Given the description of an element on the screen output the (x, y) to click on. 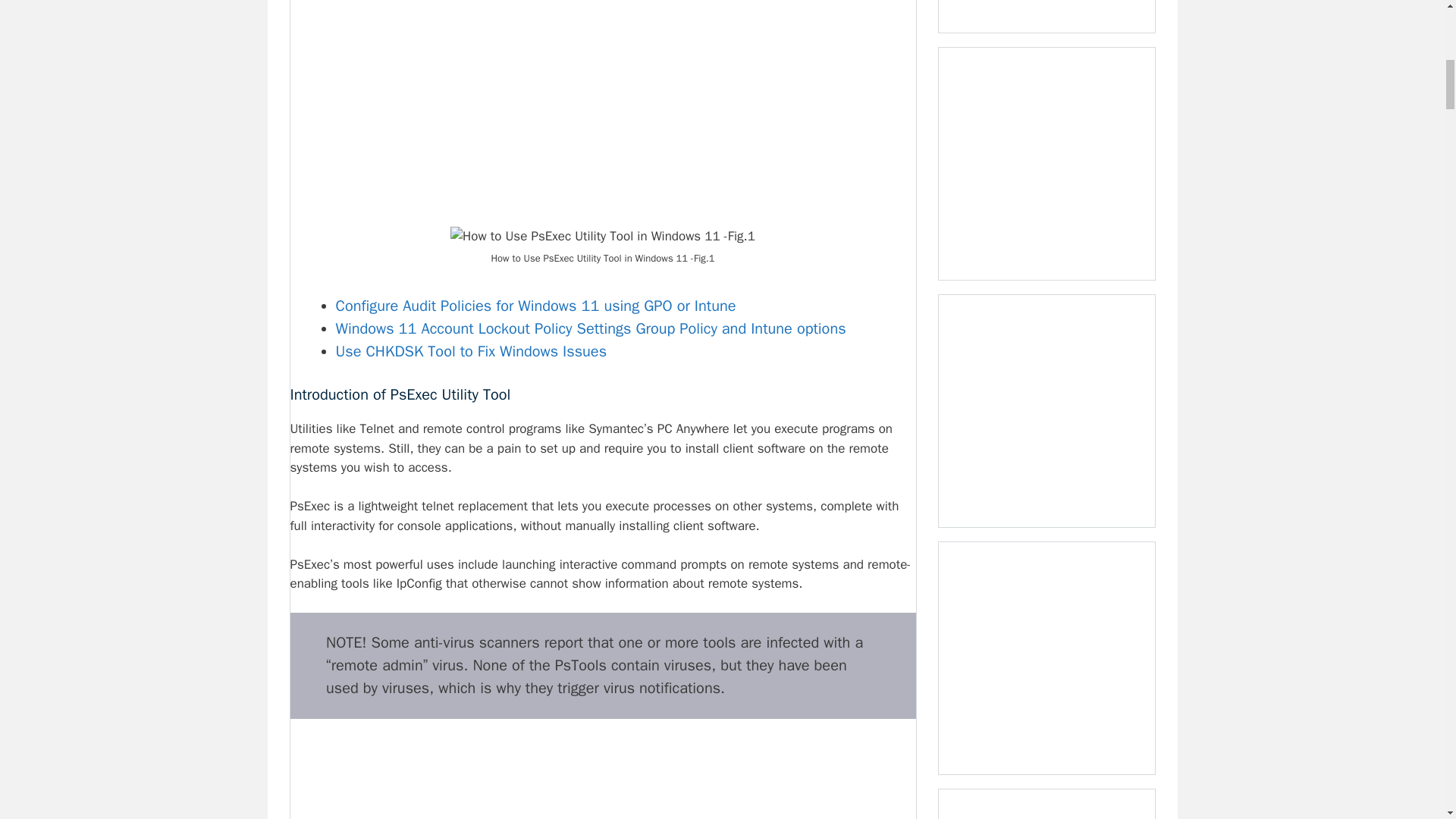
Configure Audit Policies for Windows 11 using GPO or Intune (534, 305)
Use CHKDSK Tool to Fix Windows Issues (470, 351)
How to Use PsExec Utility Tool in Windows 11 1 (602, 236)
